Given the description of an element on the screen output the (x, y) to click on. 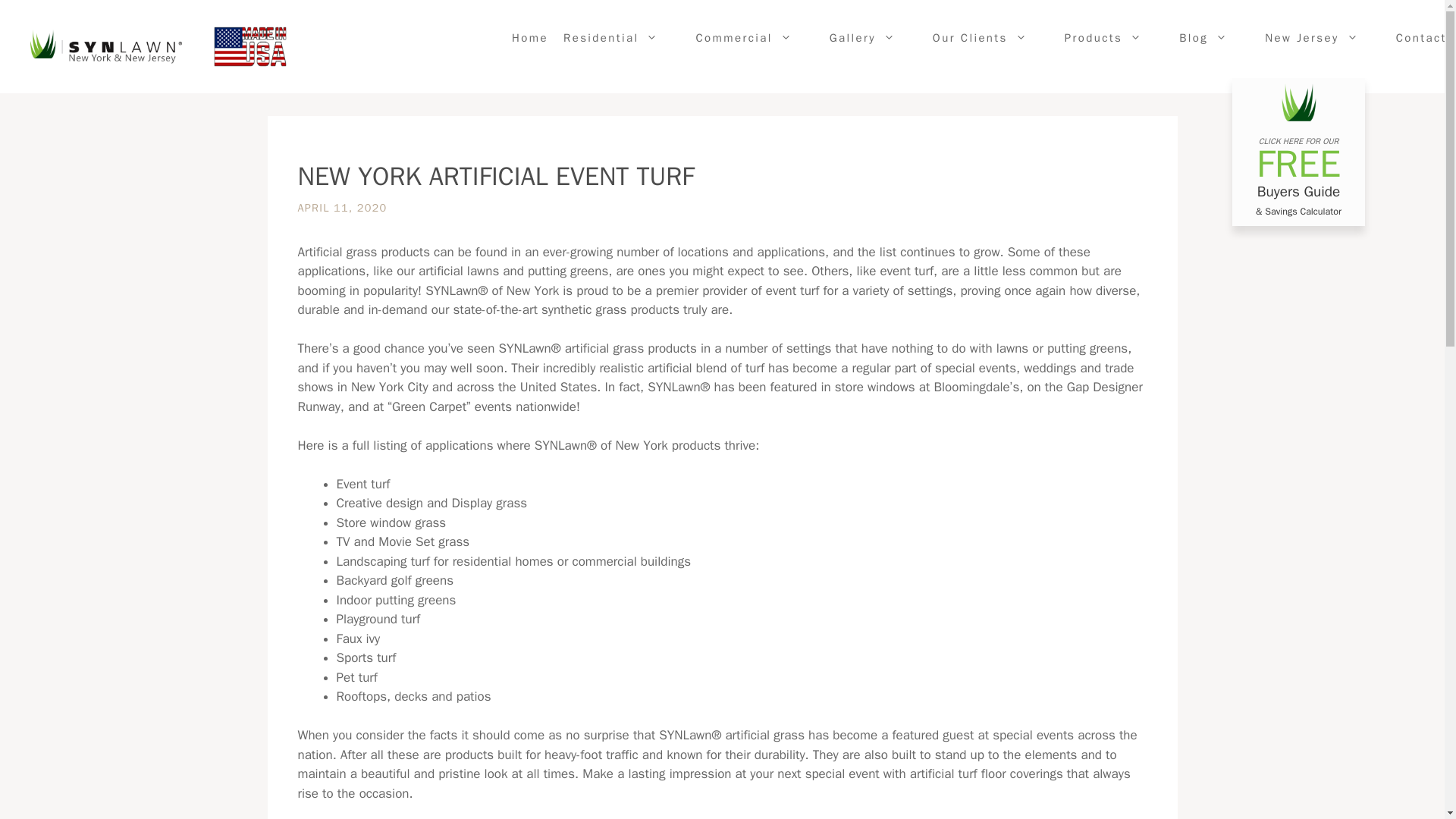
Residential (621, 37)
Gallery (873, 37)
Commercial (754, 37)
Home (529, 37)
